Given the description of an element on the screen output the (x, y) to click on. 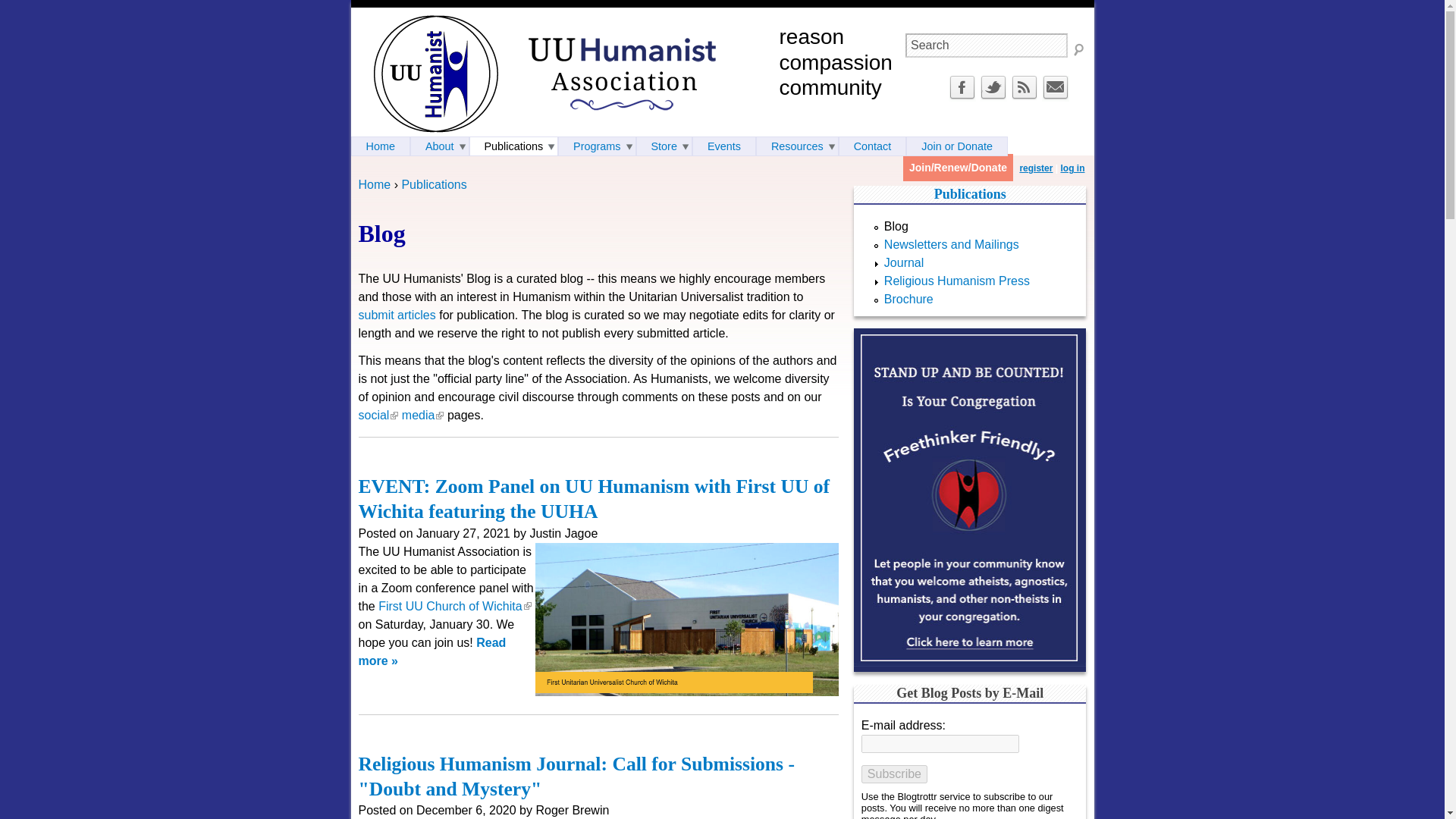
Twitter (993, 97)
Home (434, 73)
submit articles (396, 314)
Enter the terms you wish to search for. (986, 45)
Contact (1055, 97)
RSS (1023, 97)
Home (374, 184)
Subscribe (894, 773)
Search (986, 45)
Facebook (961, 97)
Publications (433, 184)
